Given the description of an element on the screen output the (x, y) to click on. 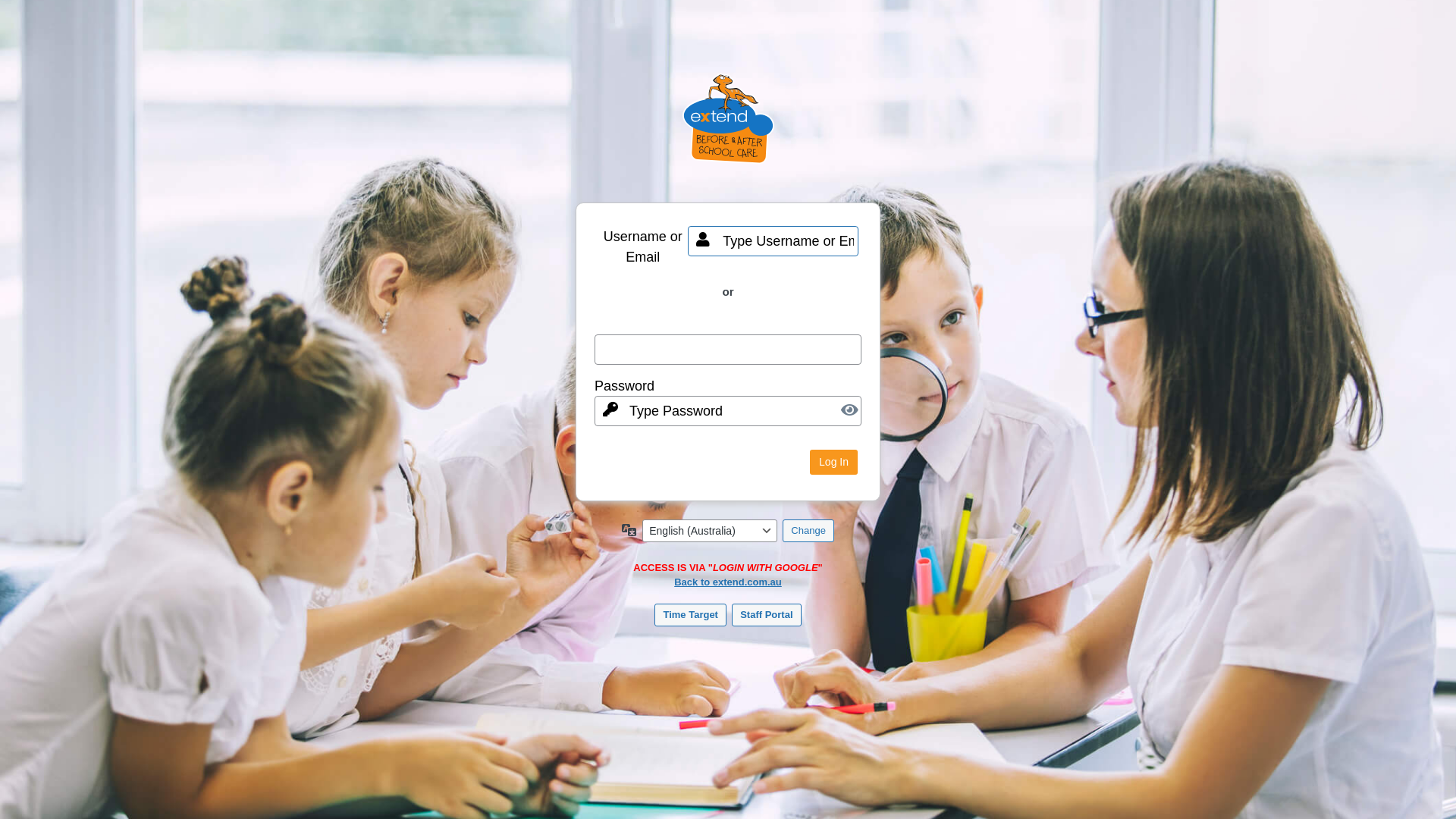
Change Element type: text (808, 530)
Staff Portal Element type: text (765, 614)
Time Target Element type: text (689, 614)
Back to extend.com.au Element type: text (727, 581)
Extend Element type: text (728, 129)
Log In Element type: text (833, 461)
